Given the description of an element on the screen output the (x, y) to click on. 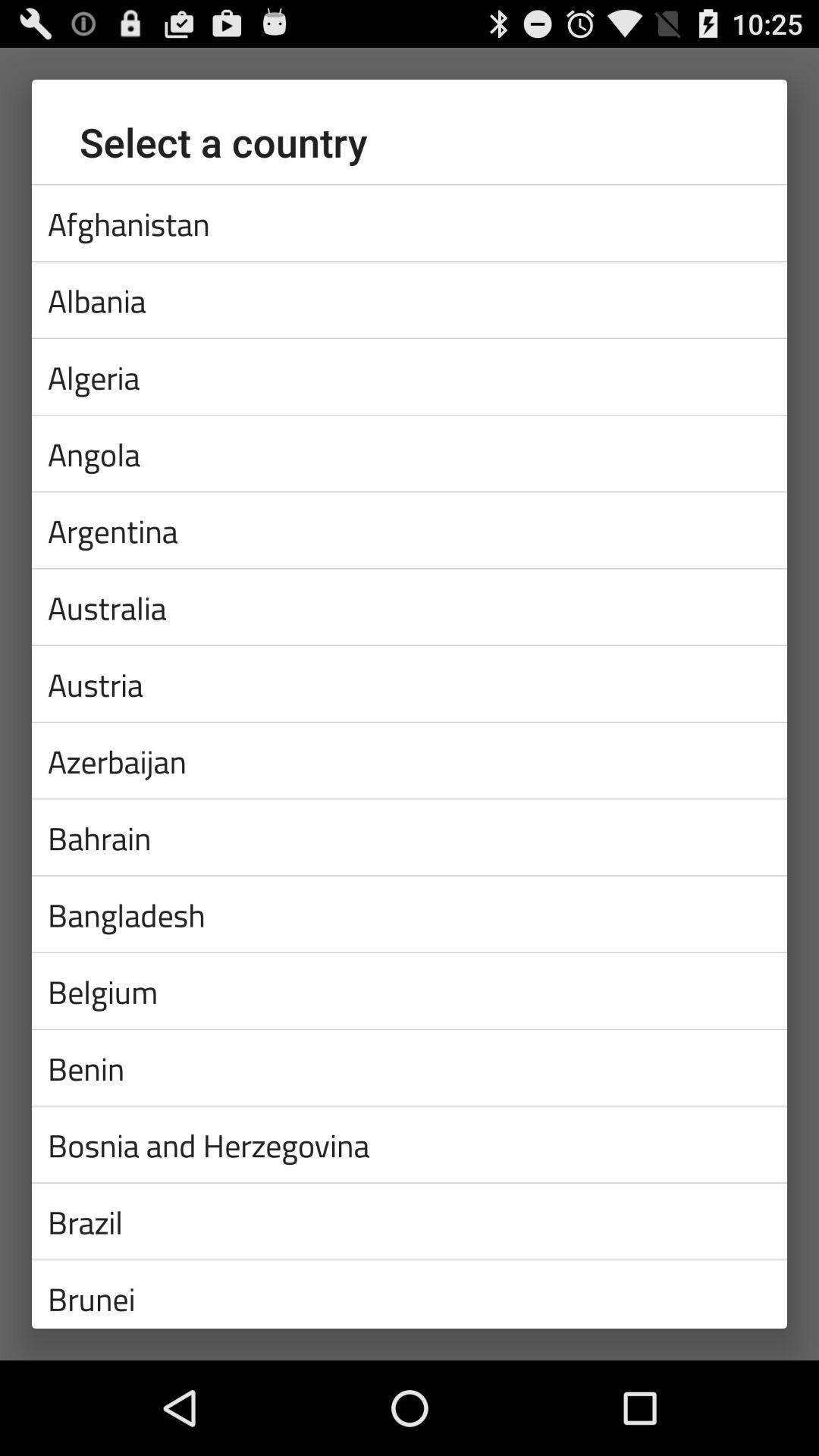
choose the austria (409, 683)
